Given the description of an element on the screen output the (x, y) to click on. 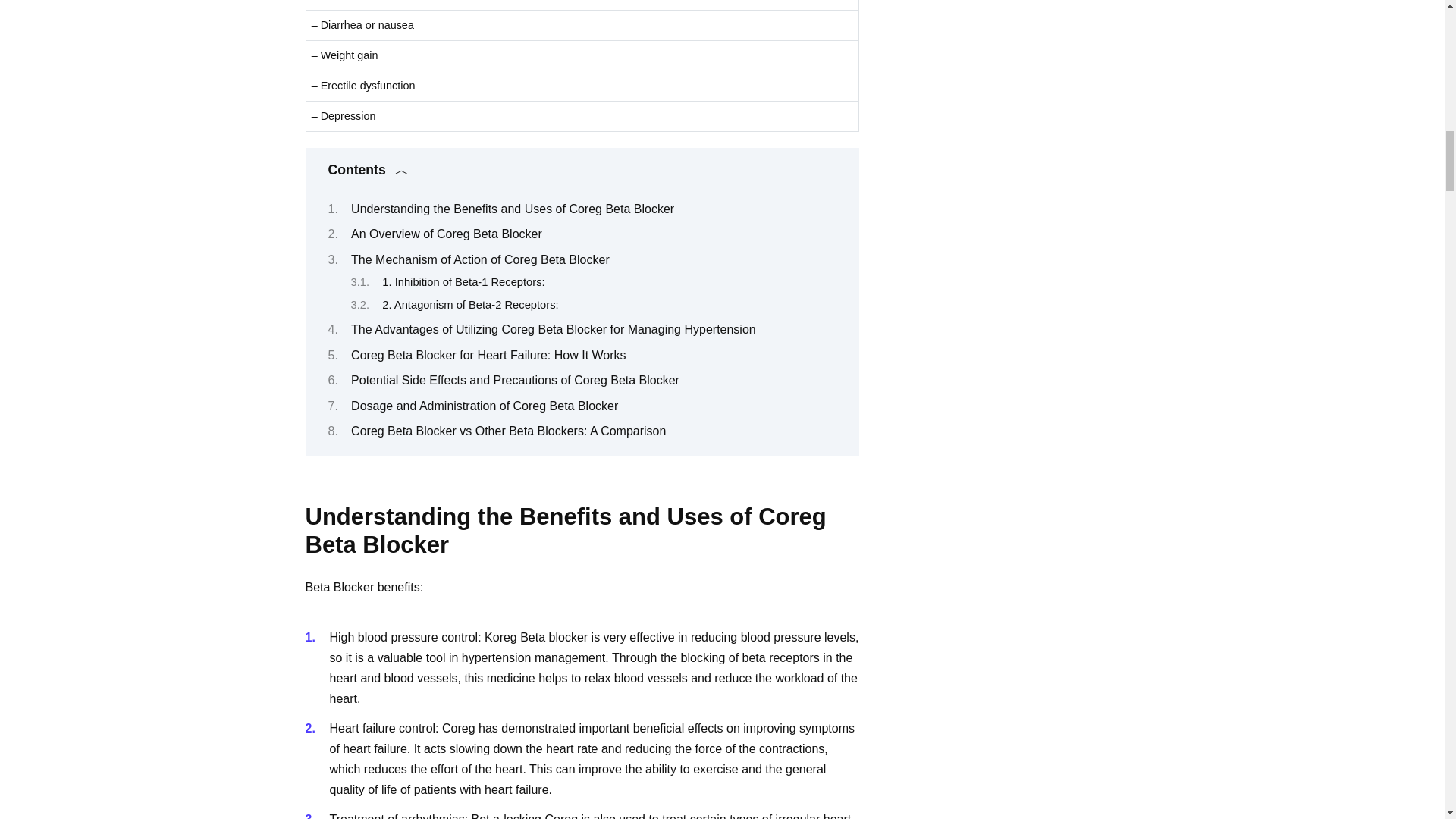
Coreg Beta Blocker for Heart Failure: How It Works (488, 354)
An Overview of Coreg Beta Blocker (445, 233)
1. Inhibition of Beta-1 Receptors: (462, 282)
The Mechanism of Action of Coreg Beta Blocker (480, 259)
Understanding the Benefits and Uses of Coreg Beta Blocker (512, 207)
Dosage and Administration of Coreg Beta Blocker (483, 405)
Coreg Beta Blocker vs Other Beta Blockers: A Comparison (507, 431)
Potential Side Effects and Precautions of Coreg Beta Blocker (514, 379)
2. Antagonism of Beta-2 Receptors: (469, 304)
